Given the description of an element on the screen output the (x, y) to click on. 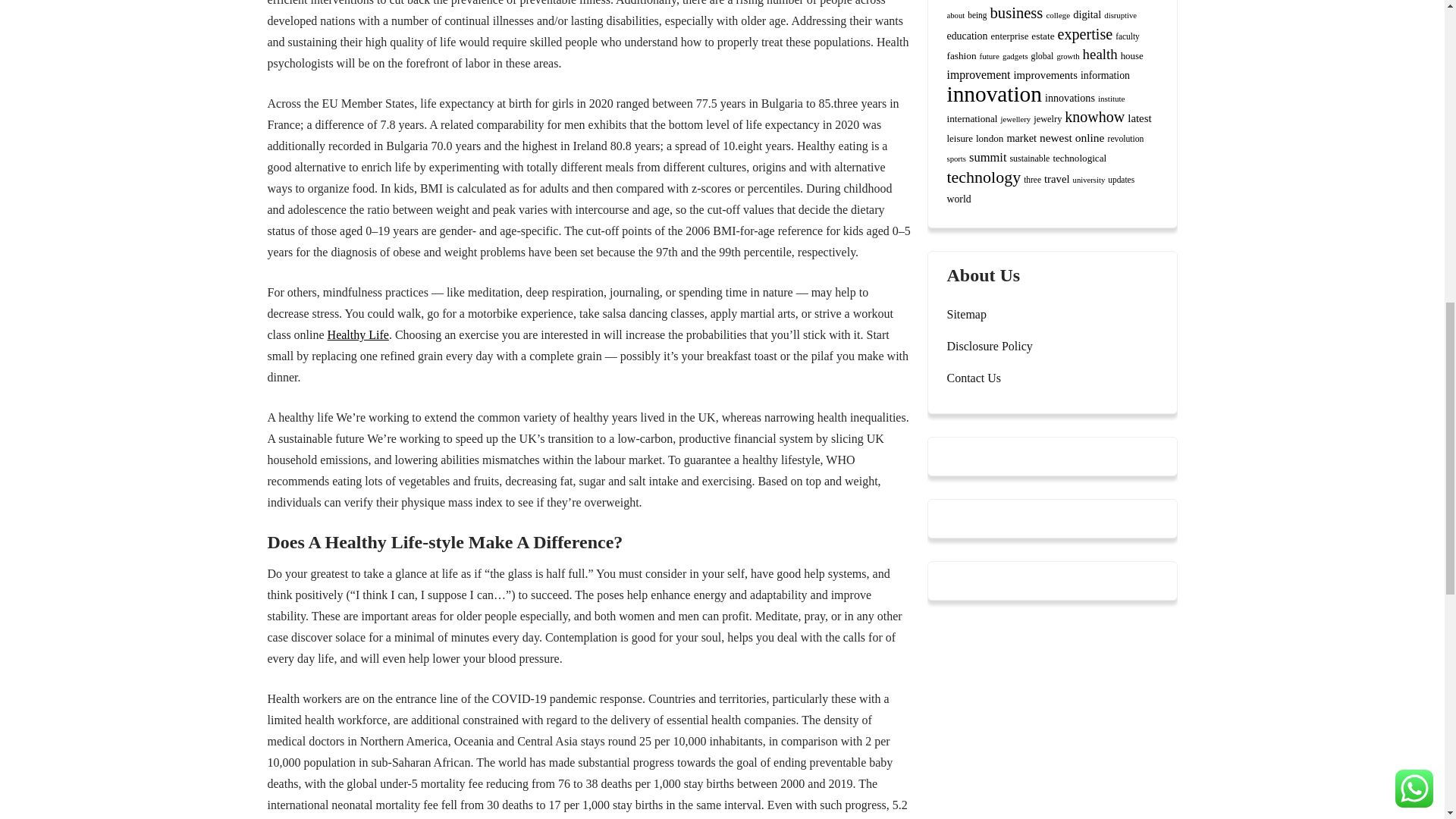
disruptive (1120, 15)
future (988, 55)
expertise (1085, 33)
estate (1042, 35)
Healthy Life (357, 334)
growth (1067, 56)
global (1042, 55)
gadgets (1015, 55)
college (1057, 14)
improvement (978, 74)
